Given the description of an element on the screen output the (x, y) to click on. 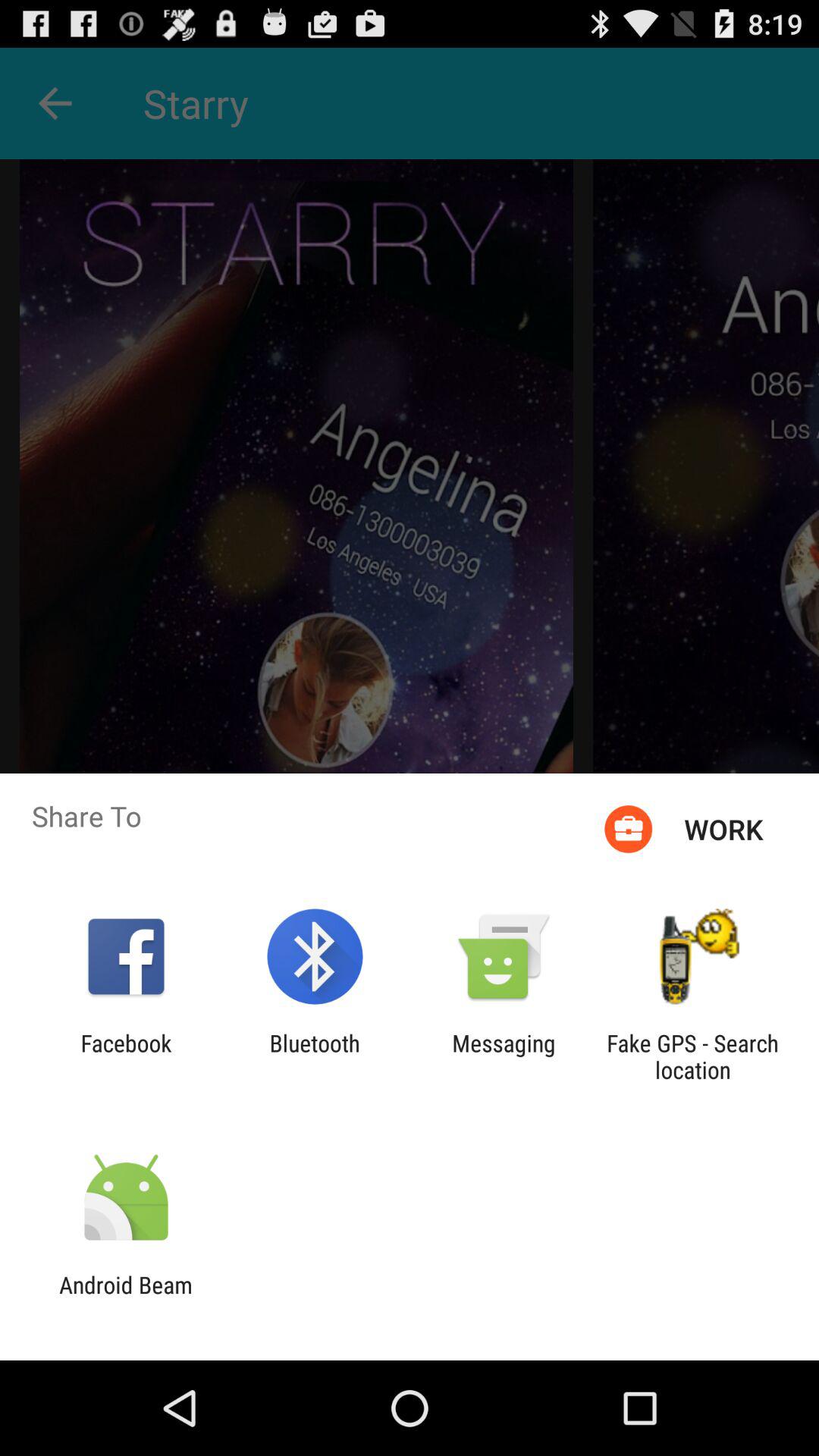
select icon to the left of messaging app (314, 1056)
